Given the description of an element on the screen output the (x, y) to click on. 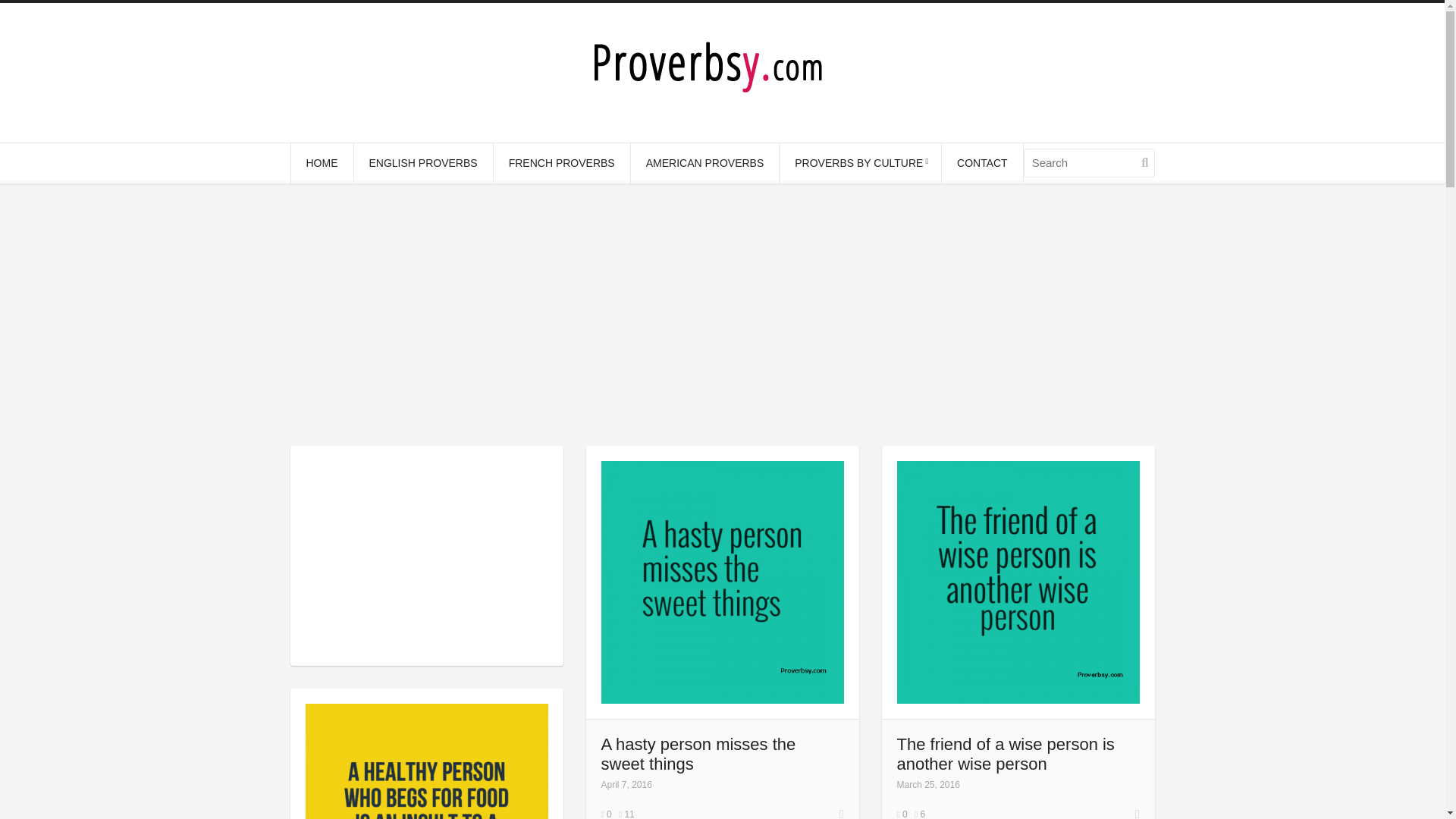
Permalink to A hasty person misses the sweet things (842, 811)
Advertisement (425, 555)
Love this. (626, 814)
Permalink to A hasty person misses the sweet things (696, 753)
Love this. (919, 814)
